Given the description of an element on the screen output the (x, y) to click on. 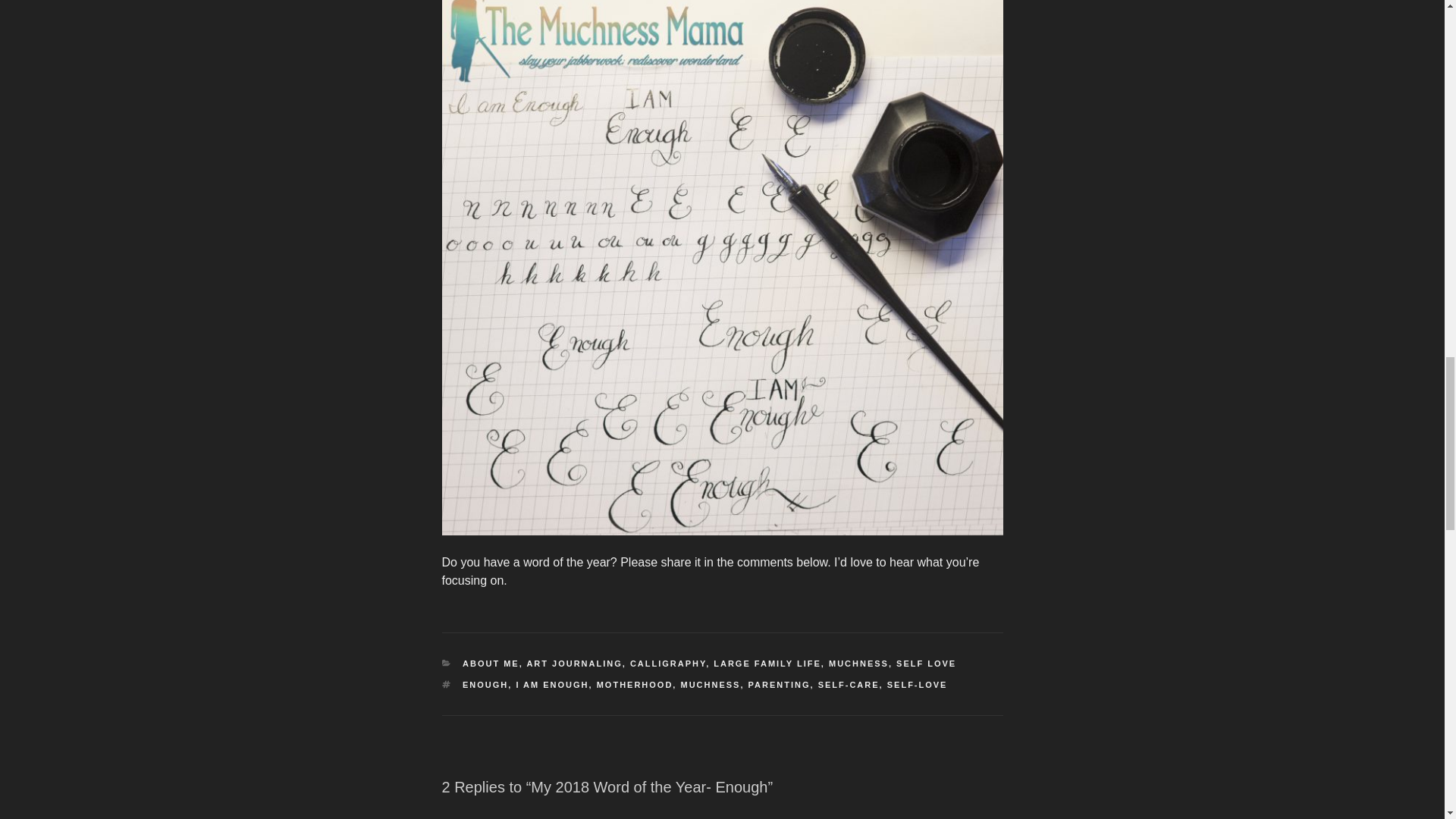
ART JOURNALING (573, 663)
ABOUT ME (491, 663)
MUCHNESS (709, 684)
I AM ENOUGH (551, 684)
MUCHNESS (858, 663)
SELF-LOVE (916, 684)
PARENTING (779, 684)
CALLIGRAPHY (668, 663)
ENOUGH (485, 684)
SELF-CARE (848, 684)
